Given the description of an element on the screen output the (x, y) to click on. 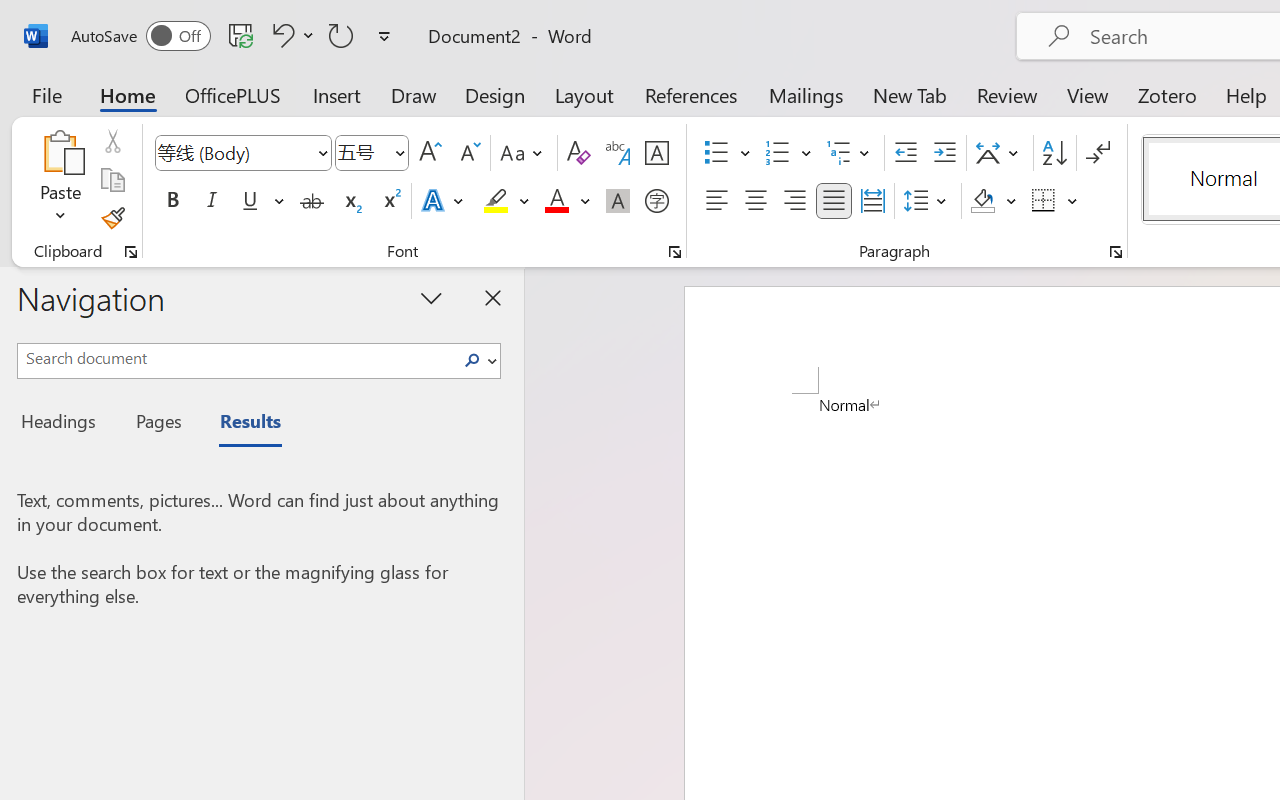
Shrink Font (468, 153)
Undo Apply Quick Style (290, 35)
Font (242, 153)
Text Effects and Typography (444, 201)
Open (399, 152)
Text Highlight Color Yellow (495, 201)
Show/Hide Editing Marks (1098, 153)
Mailings (806, 94)
Borders (1055, 201)
Align Left (716, 201)
Asian Layout (1000, 153)
Undo Apply Quick Style (280, 35)
Design (495, 94)
Bullets (716, 153)
Line and Paragraph Spacing (927, 201)
